Given the description of an element on the screen output the (x, y) to click on. 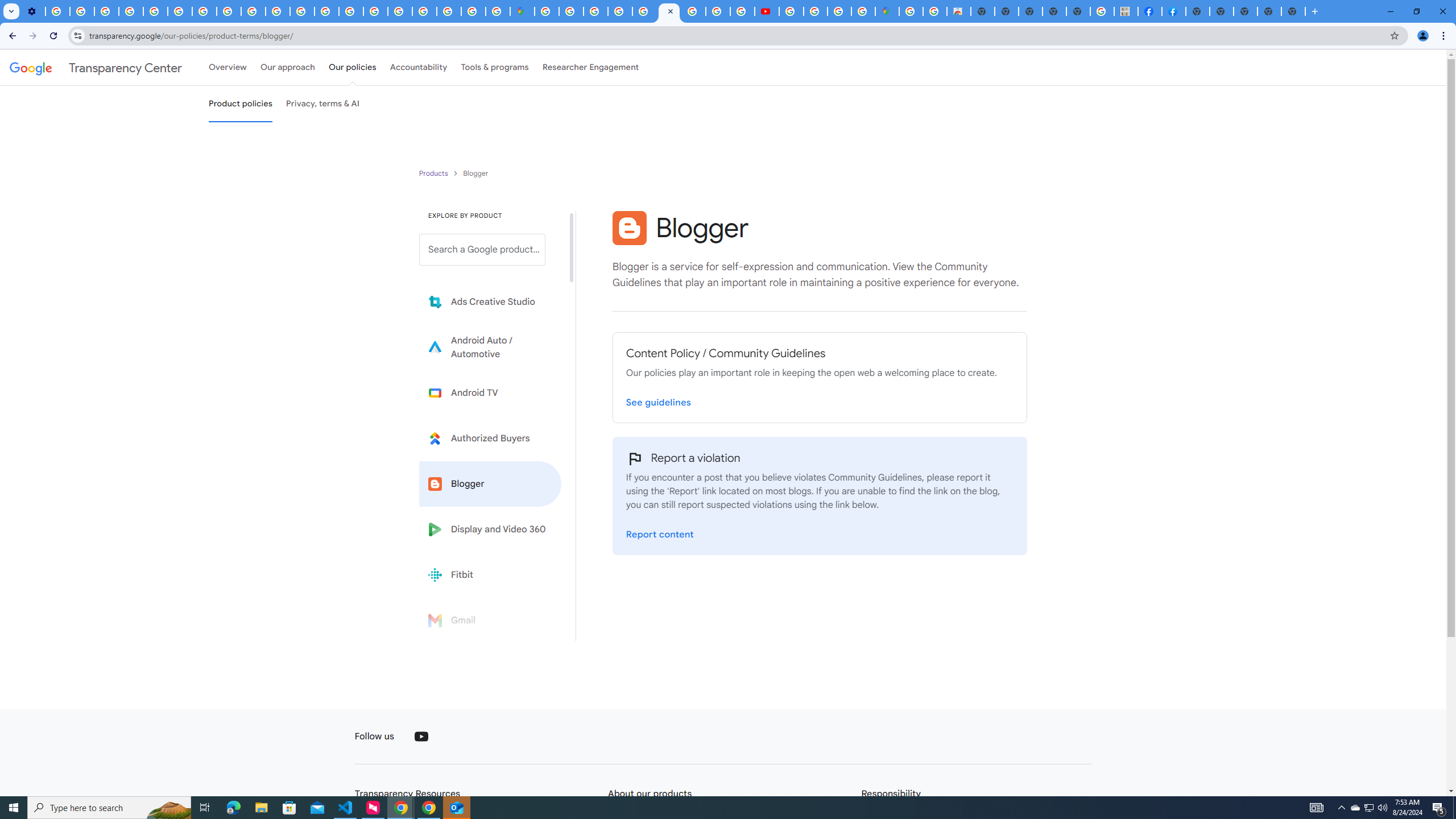
Learn more about Android Auto (490, 347)
Delete photos & videos - Computer - Google Photos Help (57, 11)
https://scholar.google.com/ (302, 11)
Privacy Checkup (277, 11)
Product policies (434, 173)
Learn more about Ads Creative Studio (490, 302)
Report a violation on the Blogger Report page (659, 534)
Privacy Help Center - Policies Help (155, 11)
Gmail (490, 619)
Search a Google product from below list. (481, 249)
